Given the description of an element on the screen output the (x, y) to click on. 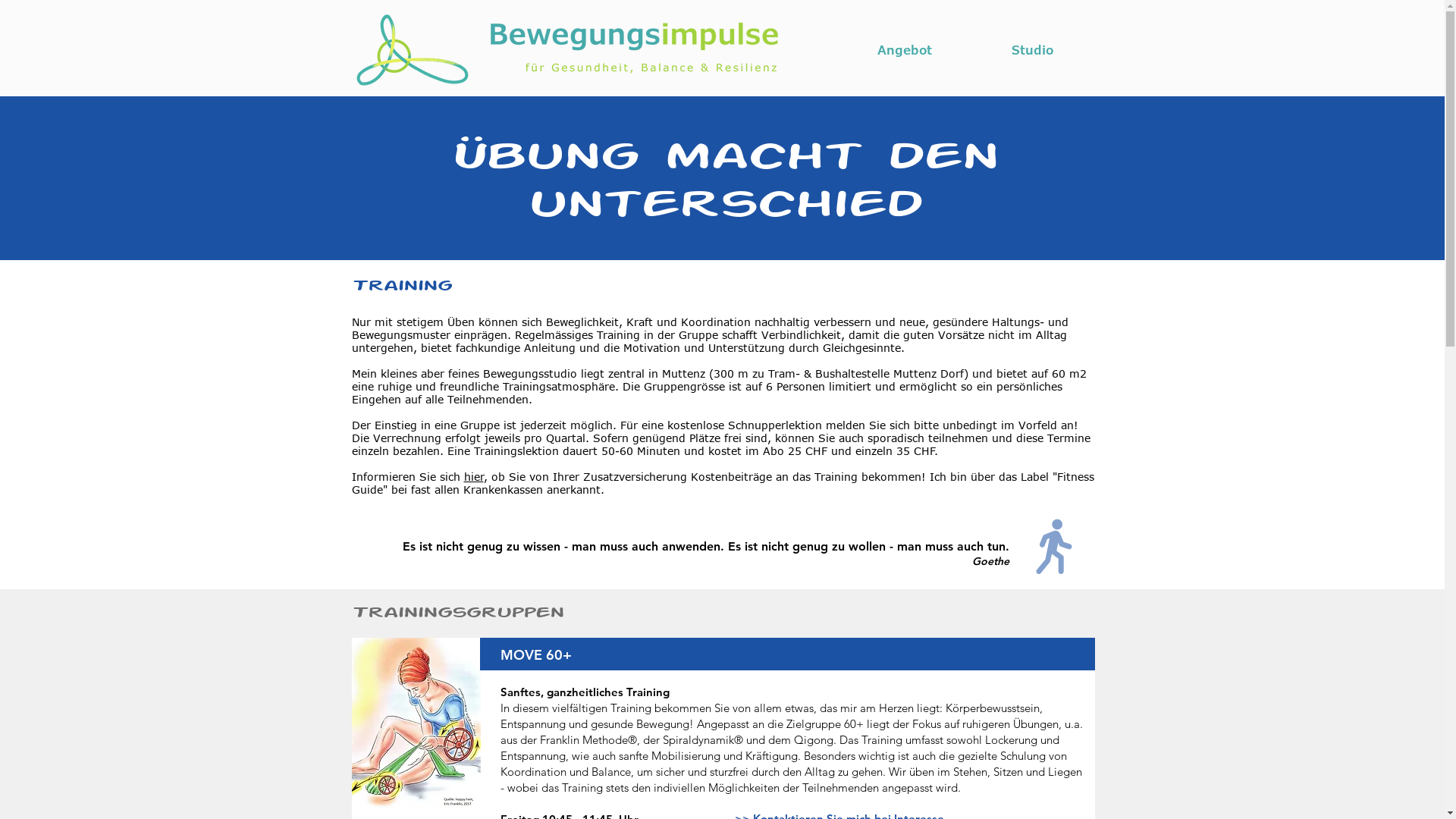
anwenden Element type: text (690, 546)
tun. Element type: text (998, 546)
hier Element type: text (473, 476)
Angebot Element type: text (904, 49)
wollen Element type: text (865, 546)
Studio Element type: text (1032, 49)
genug Element type: text (484, 546)
